Given the description of an element on the screen output the (x, y) to click on. 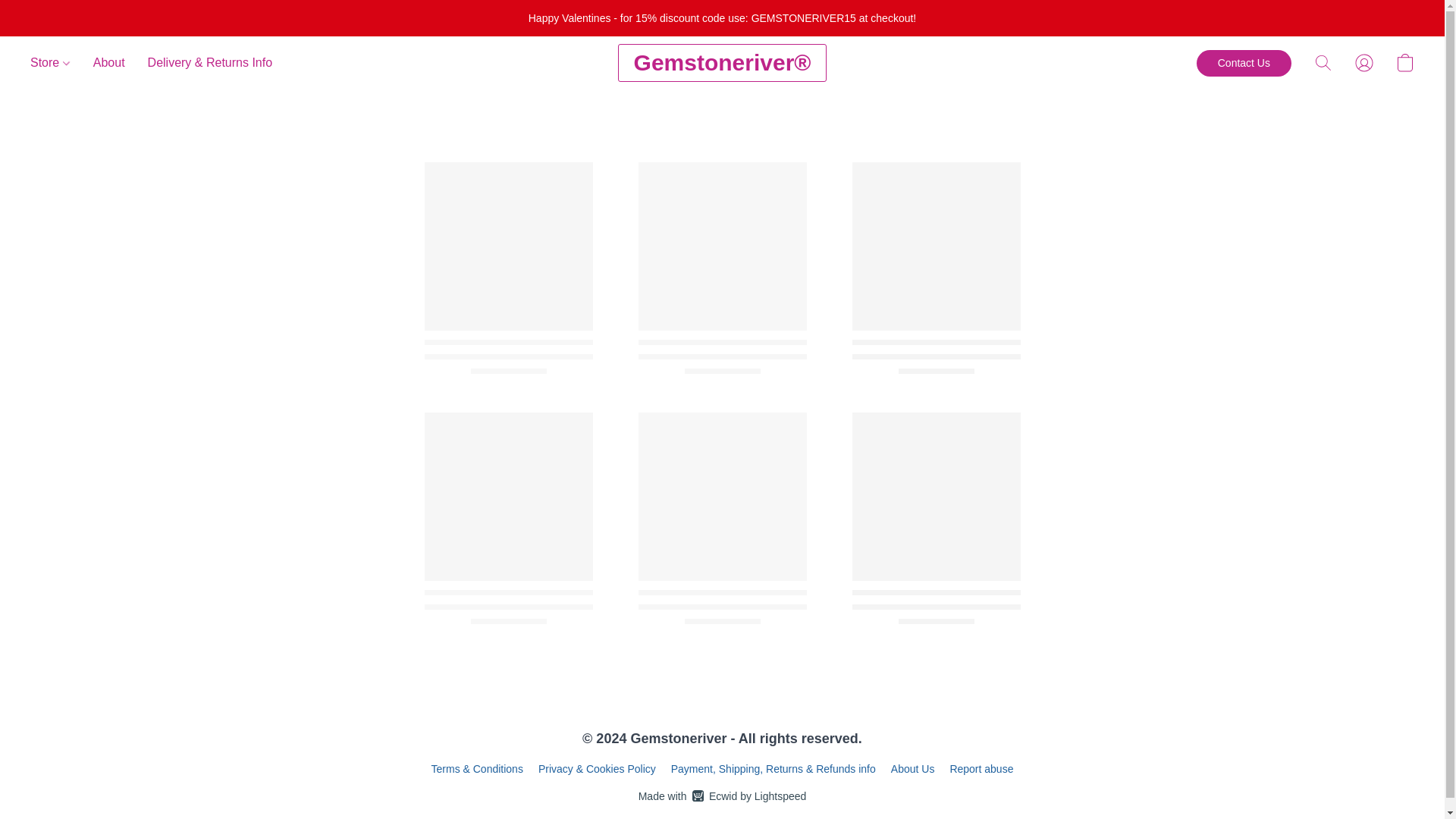
Store (55, 62)
Search the website (1323, 62)
About Us (912, 769)
About (108, 62)
Go to your shopping cart (1404, 62)
Contact Us (1243, 62)
Report abuse (722, 796)
